Given the description of an element on the screen output the (x, y) to click on. 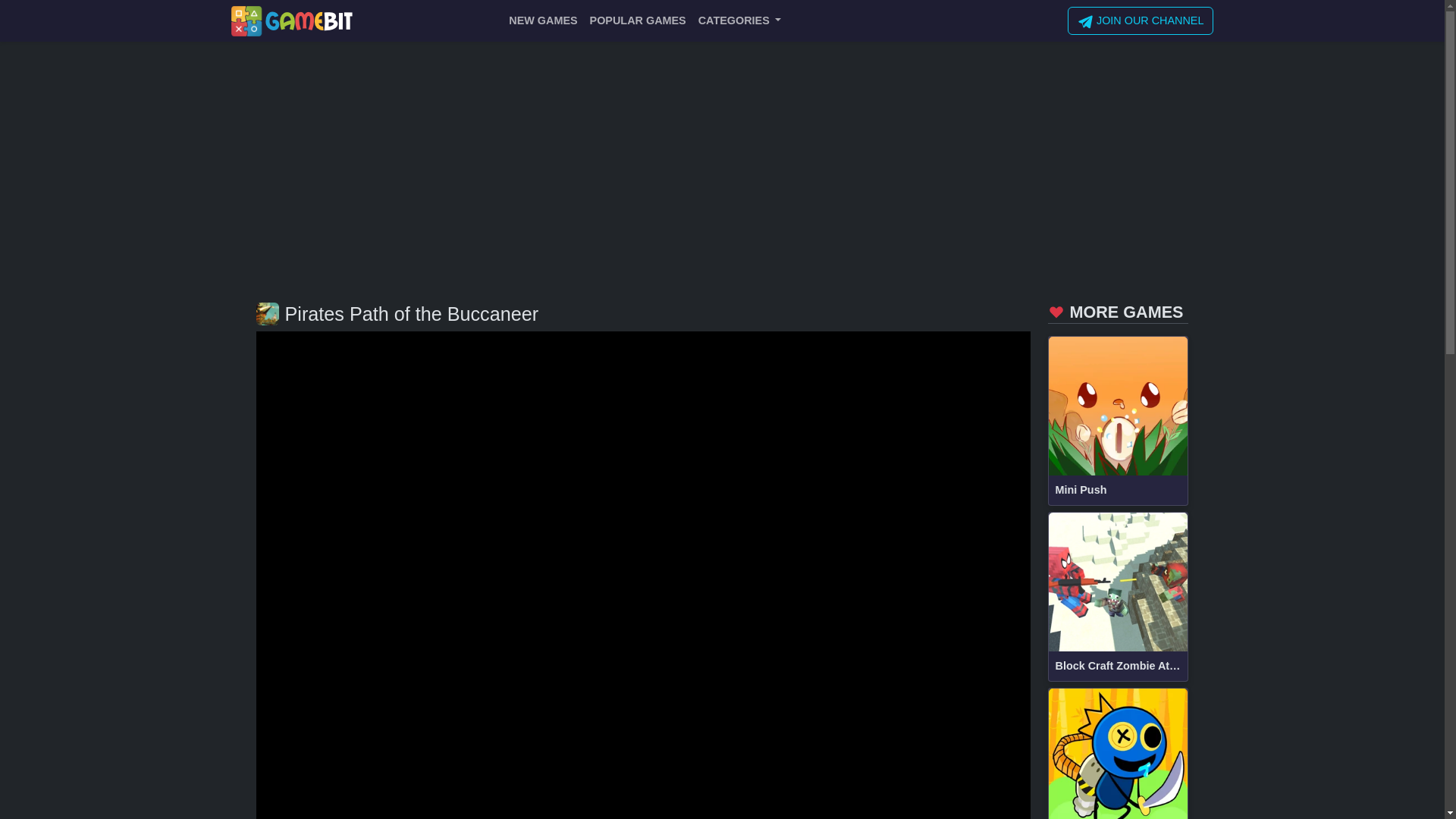
CATEGORIES (740, 20)
POPULAR GAMES (638, 20)
NEW GAMES (542, 20)
